Given the description of an element on the screen output the (x, y) to click on. 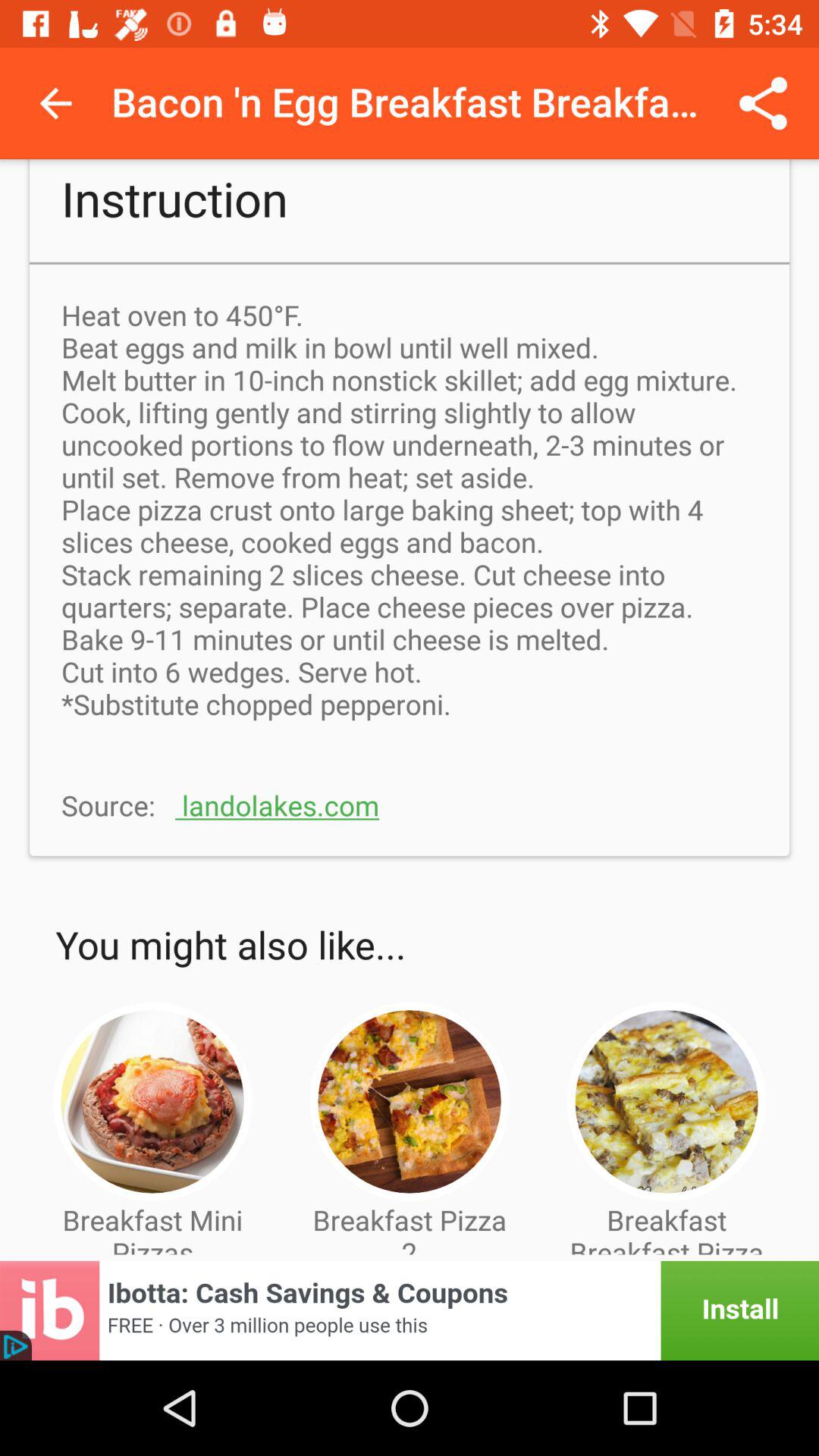
advertisement (409, 1310)
